Given the description of an element on the screen output the (x, y) to click on. 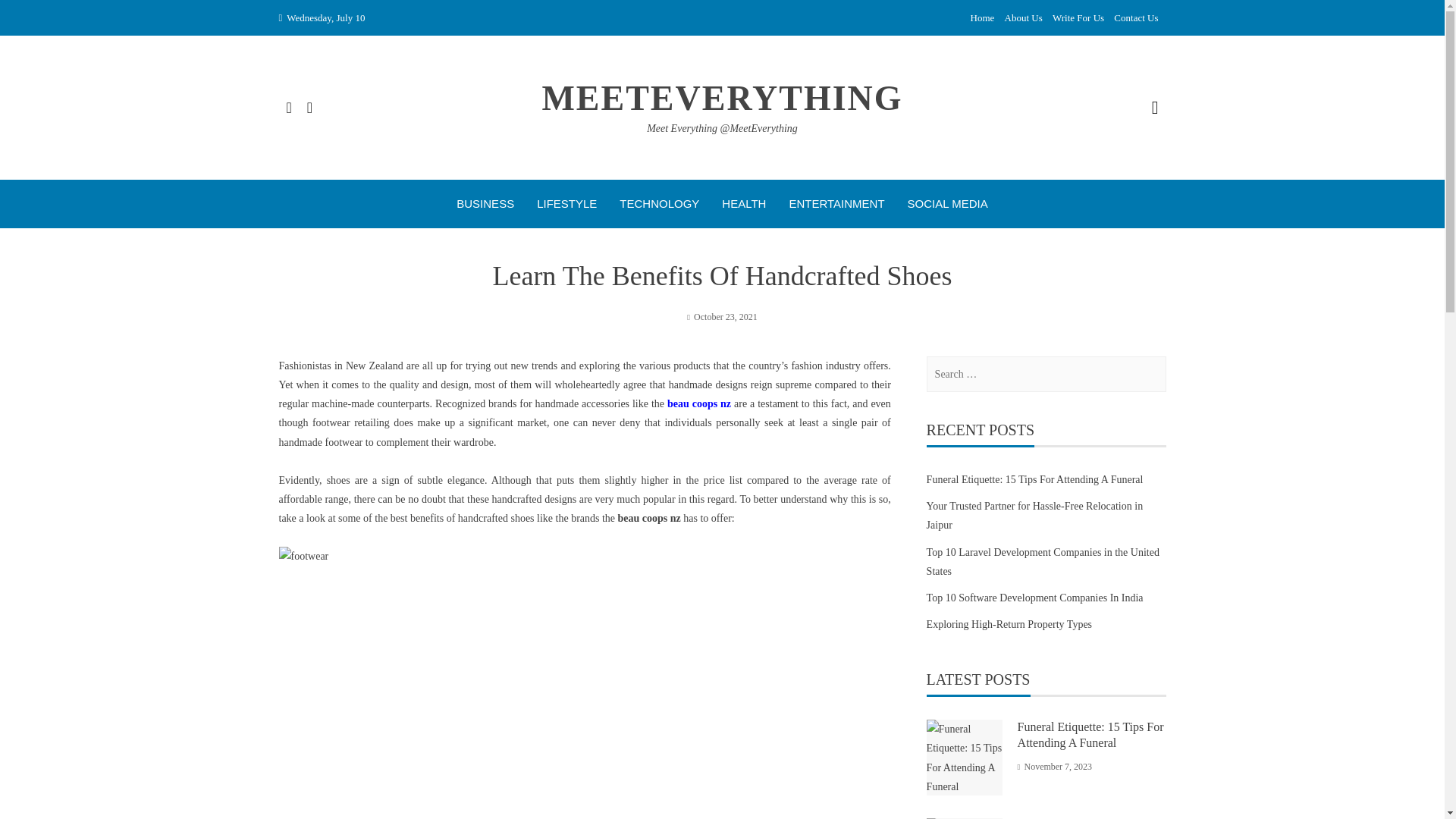
BUSINESS (485, 203)
Contact Us (1135, 17)
ENTERTAINMENT (836, 203)
HEALTH (743, 203)
MEETEVERYTHING (721, 97)
Home (982, 17)
LIFESTYLE (566, 203)
About Us (1023, 17)
SOCIAL MEDIA (947, 203)
Write For Us (1077, 17)
TECHNOLOGY (659, 203)
